Given the description of an element on the screen output the (x, y) to click on. 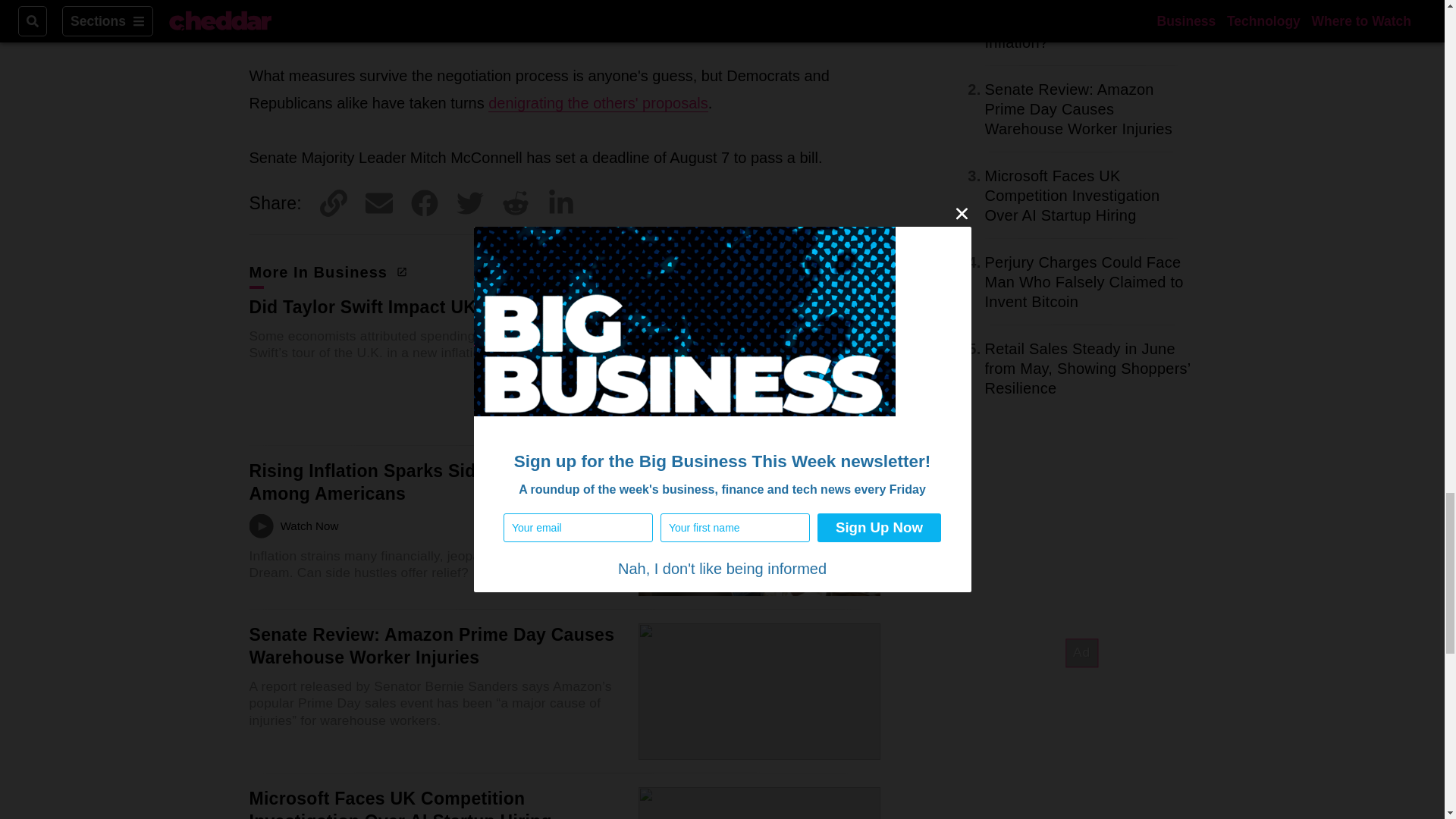
More In Business (325, 271)
Rising Inflation Sparks Side Hustle Surge Among Americans (423, 482)
Did Taylor Swift Impact UK Inflation? (405, 306)
denigrating the others' proposals (597, 103)
